Given the description of an element on the screen output the (x, y) to click on. 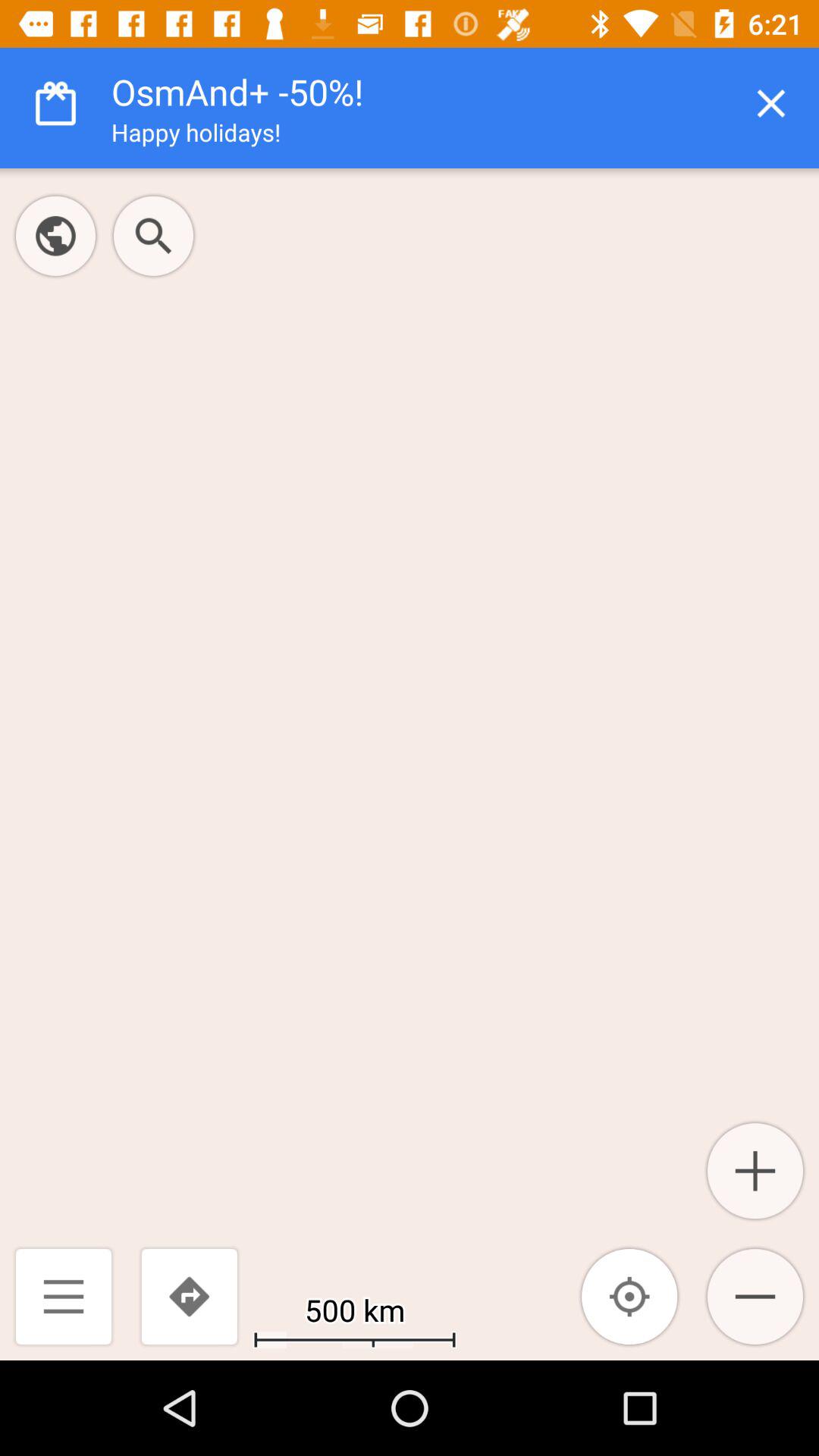
press item next to the 500 km (629, 1296)
